Given the description of an element on the screen output the (x, y) to click on. 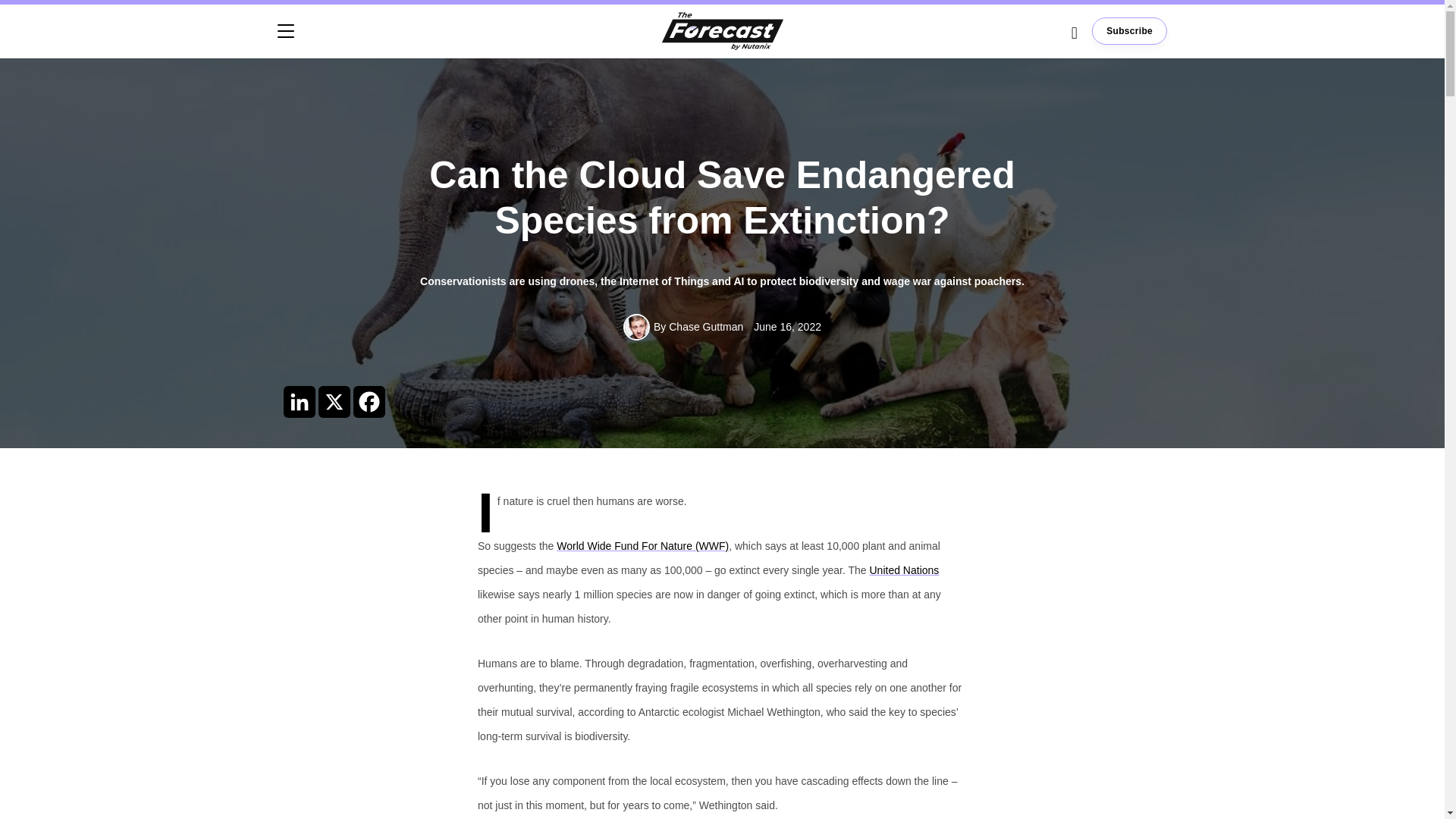
X (334, 400)
United Nations (904, 570)
Subscribe (1129, 31)
Facebook (369, 400)
LinkedIn (299, 400)
